Given the description of an element on the screen output the (x, y) to click on. 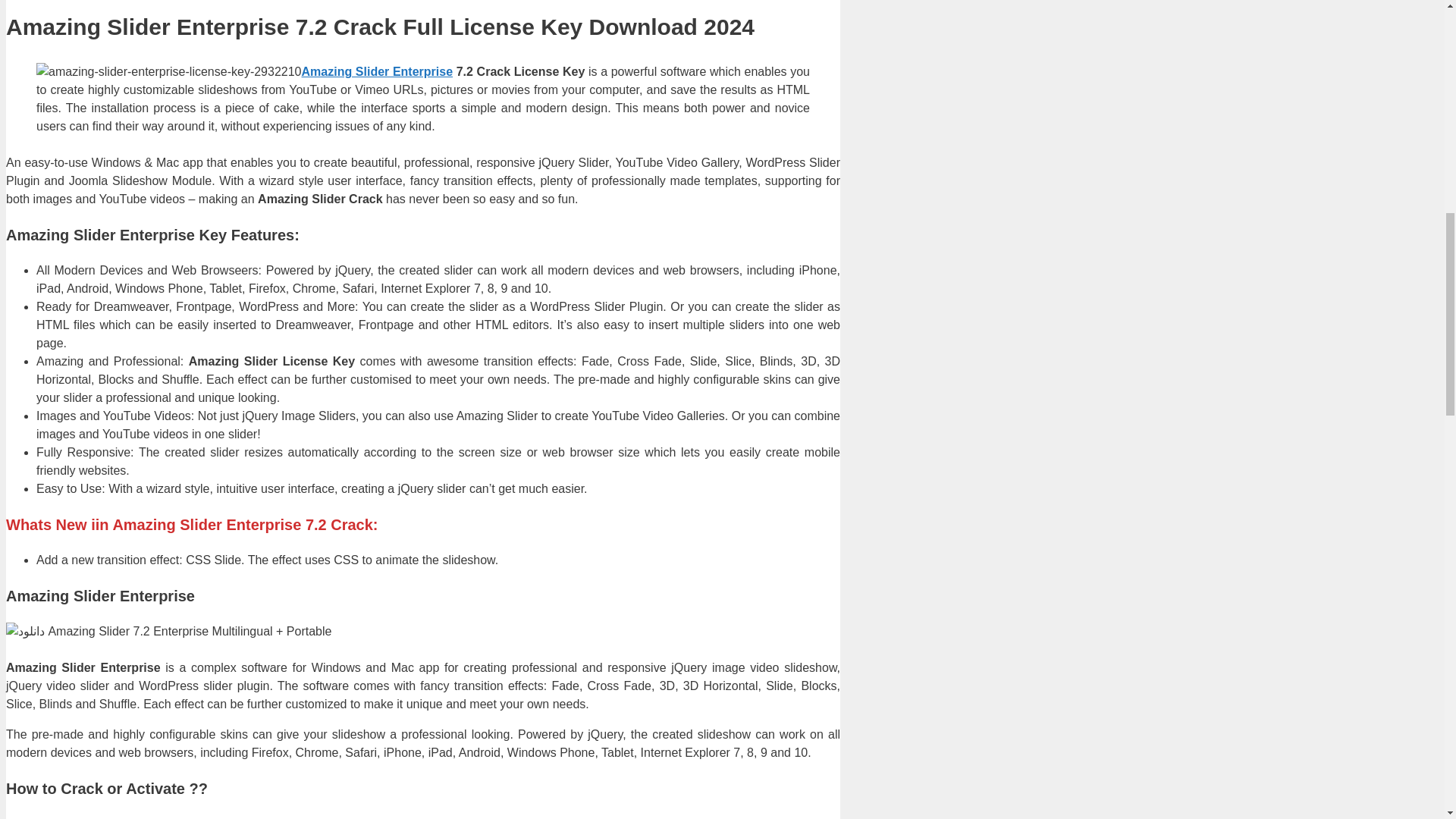
Amazing Slider Enterprise (376, 71)
